Given the description of an element on the screen output the (x, y) to click on. 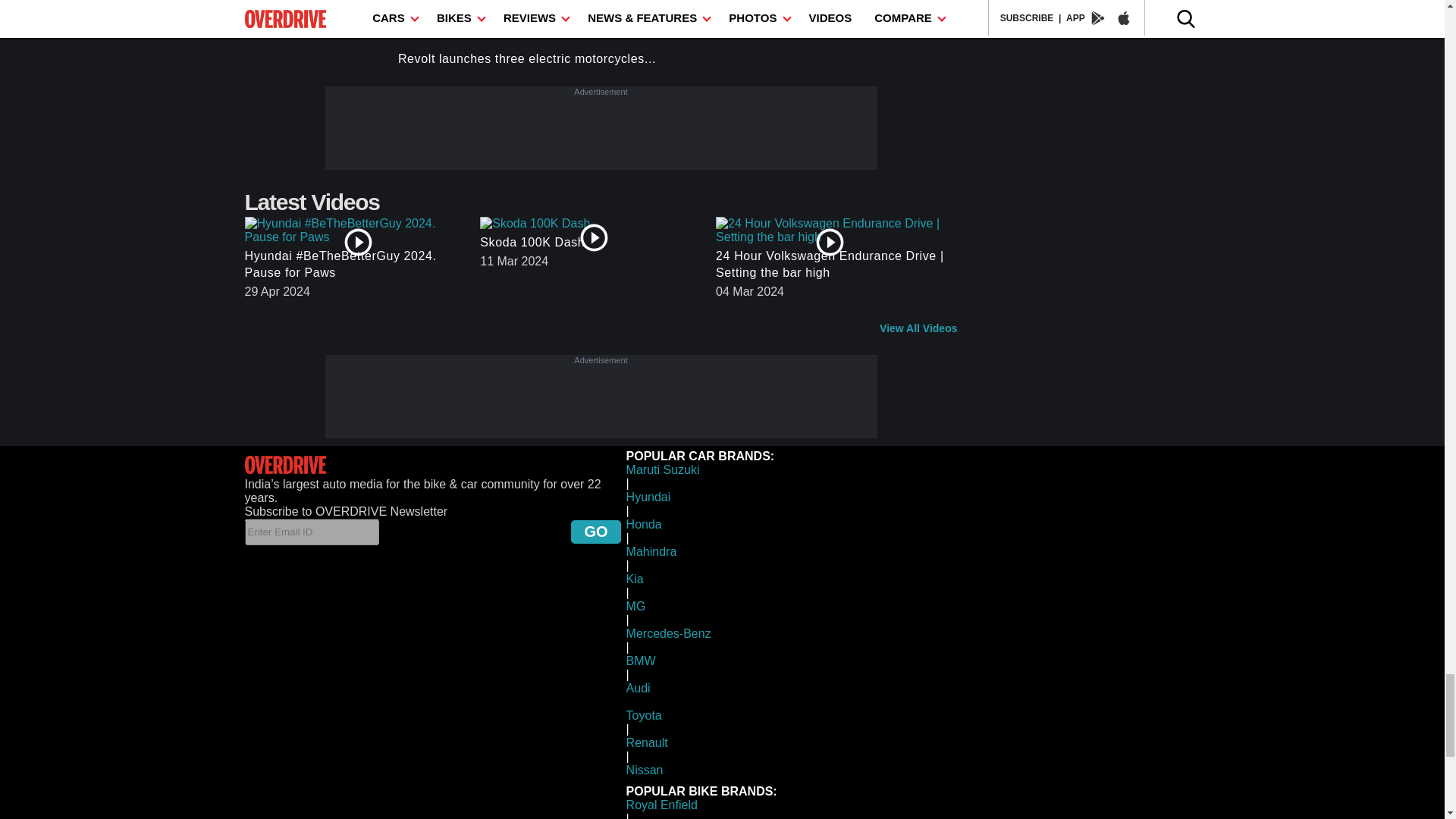
go (595, 531)
go (595, 531)
